Given the description of an element on the screen output the (x, y) to click on. 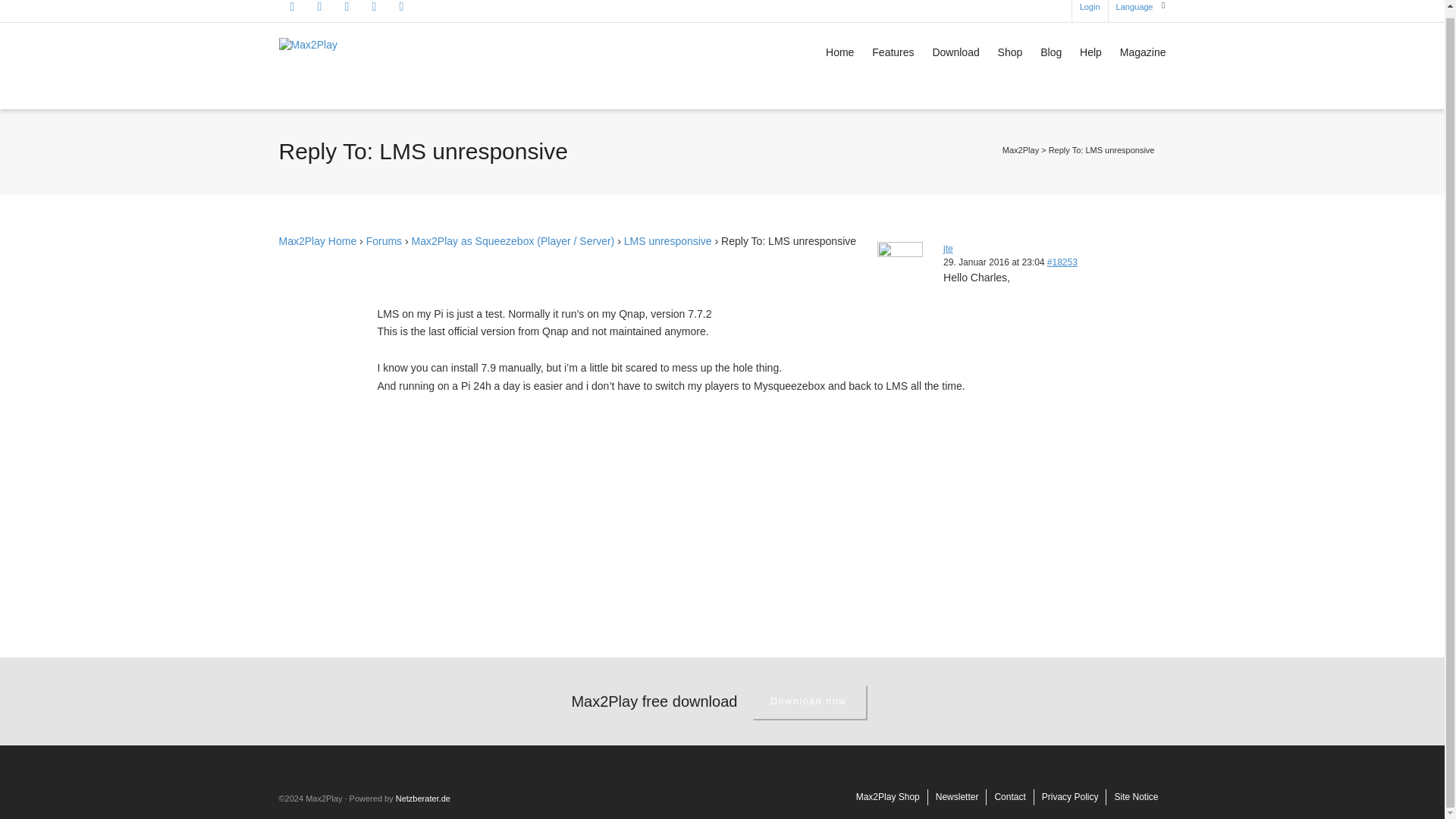
View jte's profile (948, 248)
Login (1090, 11)
Gehe zu Max2Play. (1021, 149)
Language (1134, 11)
Features (893, 53)
Reply To: LMS unresponsive (1061, 262)
